Given the description of an element on the screen output the (x, y) to click on. 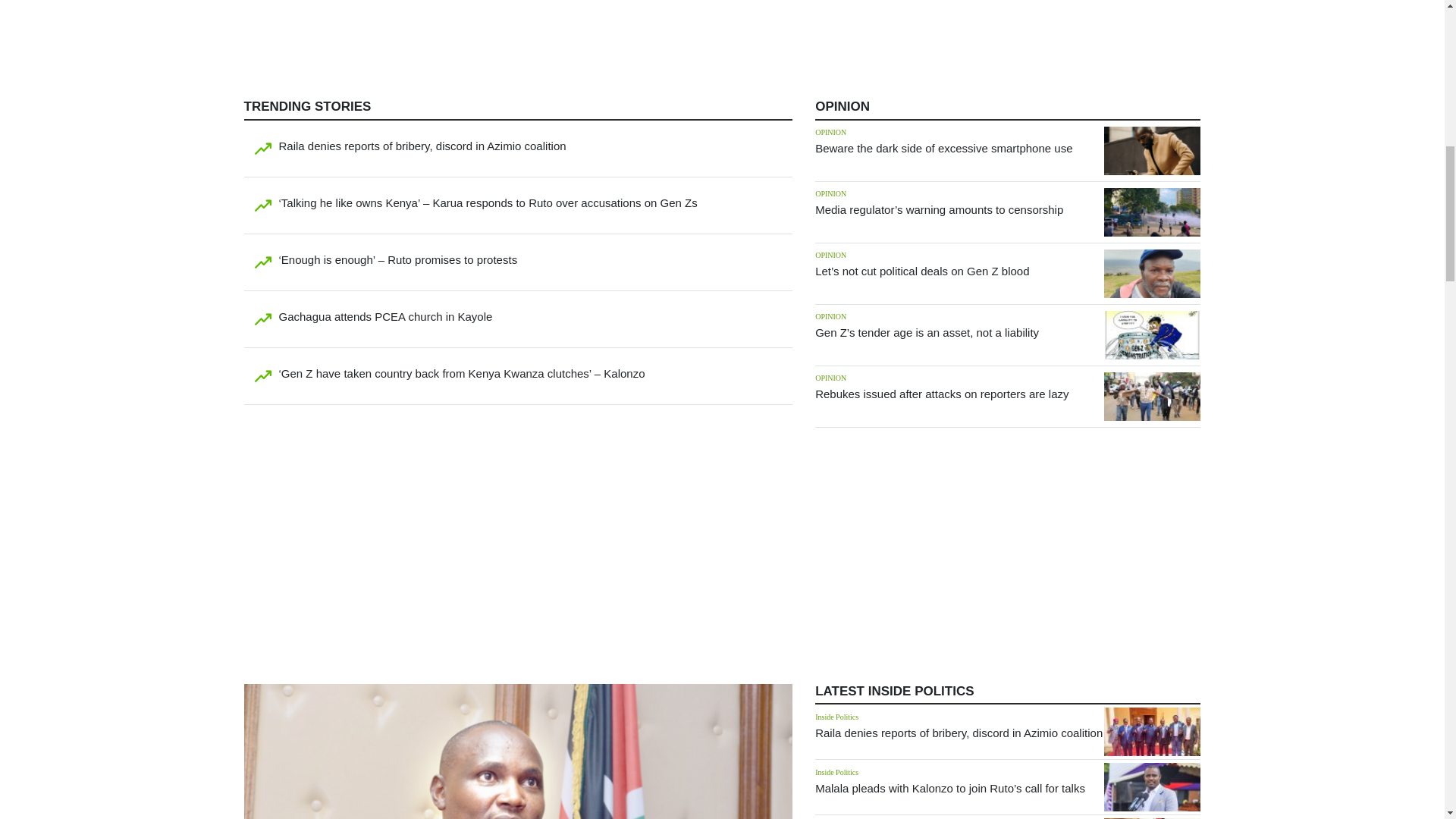
Gachagua attends PCEA church in Kayole (386, 316)
Raila denies reports of bribery, discord in Azimio coalition (422, 145)
